Given the description of an element on the screen output the (x, y) to click on. 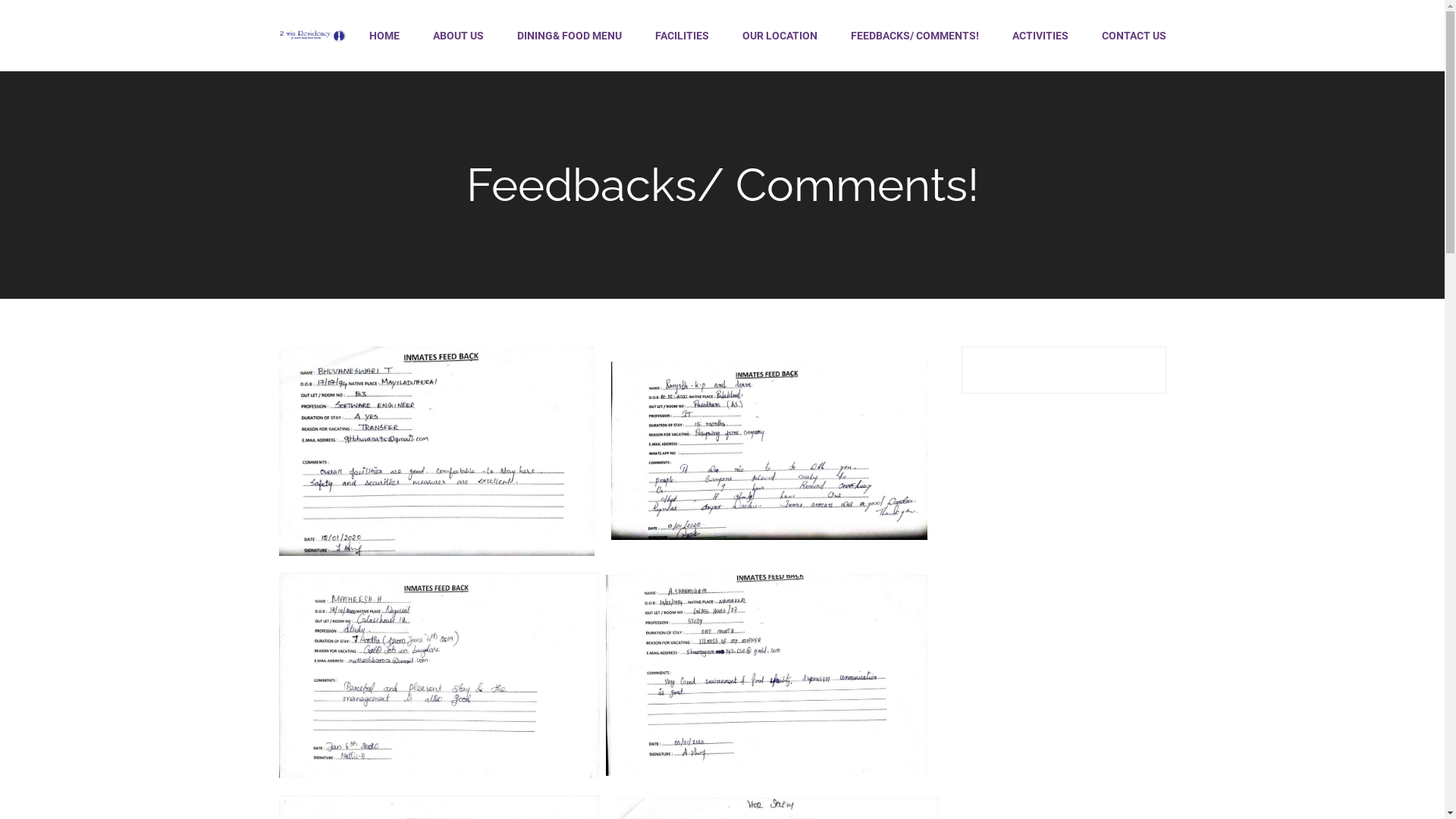
CONTACT US Element type: text (1125, 38)
OUR LOCATION Element type: text (778, 38)
ABOUT US Element type: text (457, 38)
DINING& FOOD MENU Element type: text (569, 38)
HOME Element type: text (383, 38)
FEEDBACKS/ COMMENTS! Element type: text (914, 38)
ACTIVITIES Element type: text (1039, 38)
2winhostel - 2 Win Residency Ladies Hostel Element type: hover (313, 39)
FACILITIES Element type: text (682, 38)
